Given the description of an element on the screen output the (x, y) to click on. 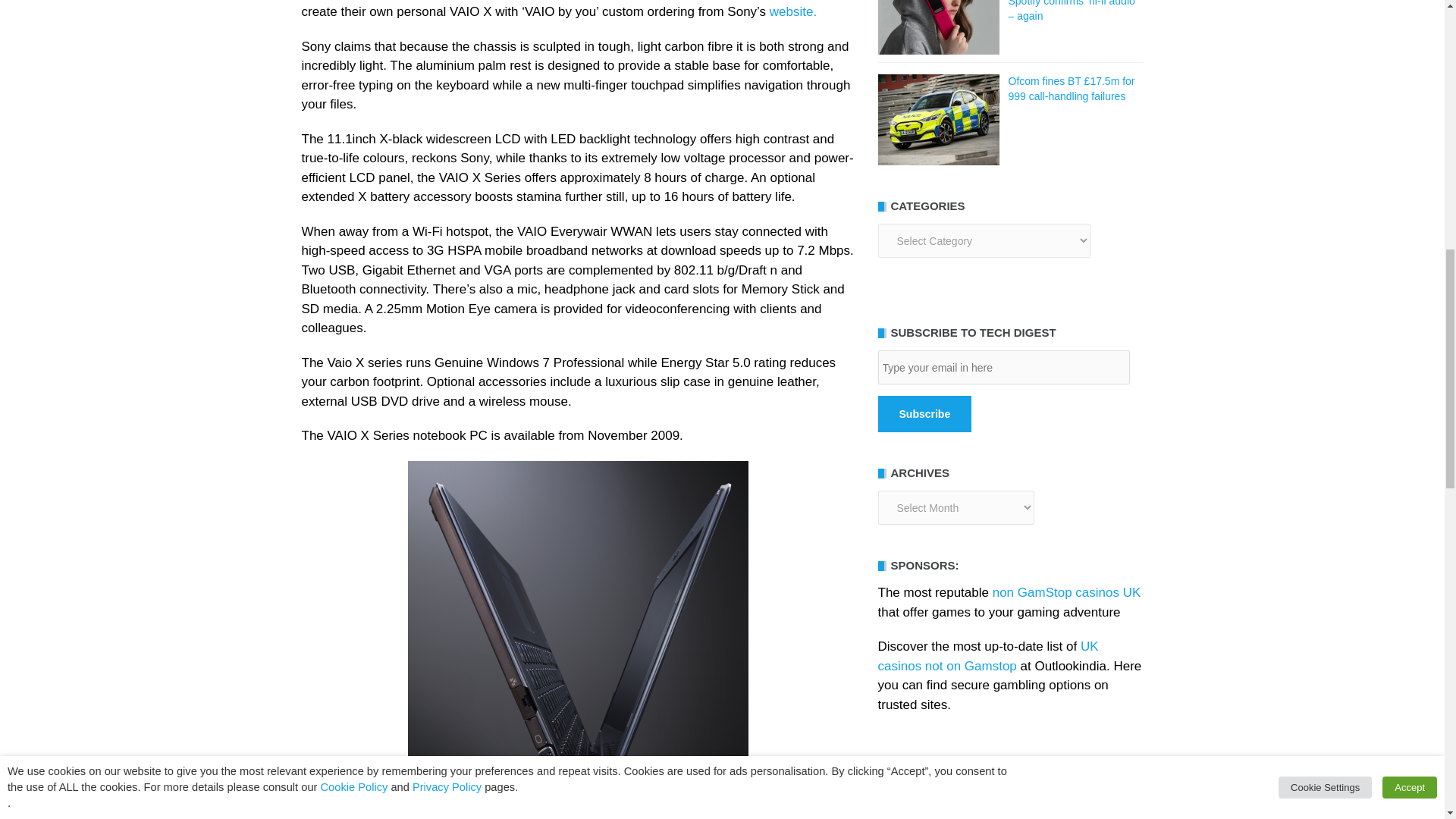
Type your email in here (1003, 367)
Type your email in here (1003, 367)
